Given the description of an element on the screen output the (x, y) to click on. 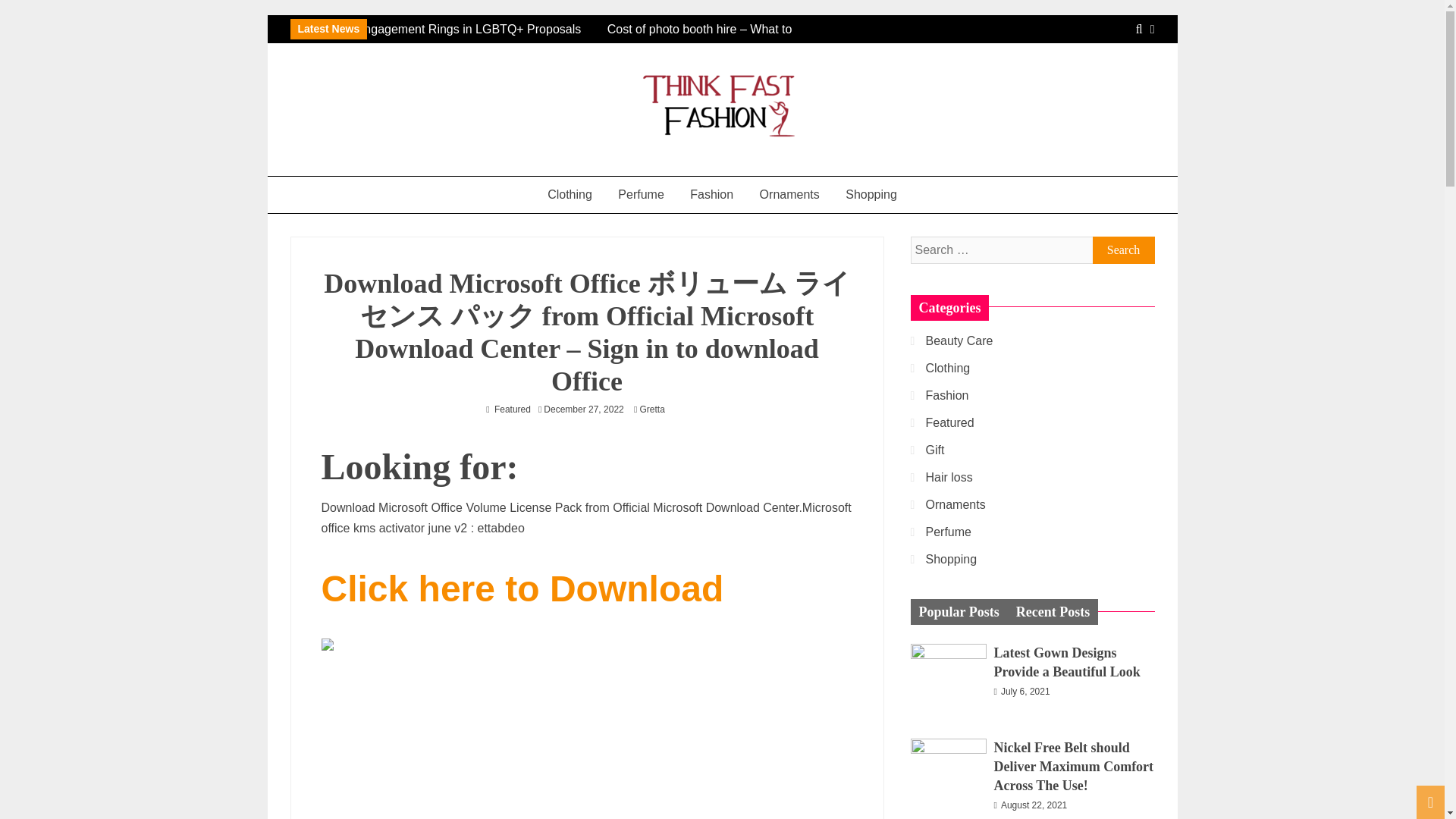
Search (1123, 249)
Gretta (655, 409)
Ornaments (789, 194)
Featured (513, 409)
December 27, 2022 (583, 409)
Perfume (641, 194)
Shopping (871, 194)
Search (1123, 249)
Click here to Download (522, 596)
